Given the description of an element on the screen output the (x, y) to click on. 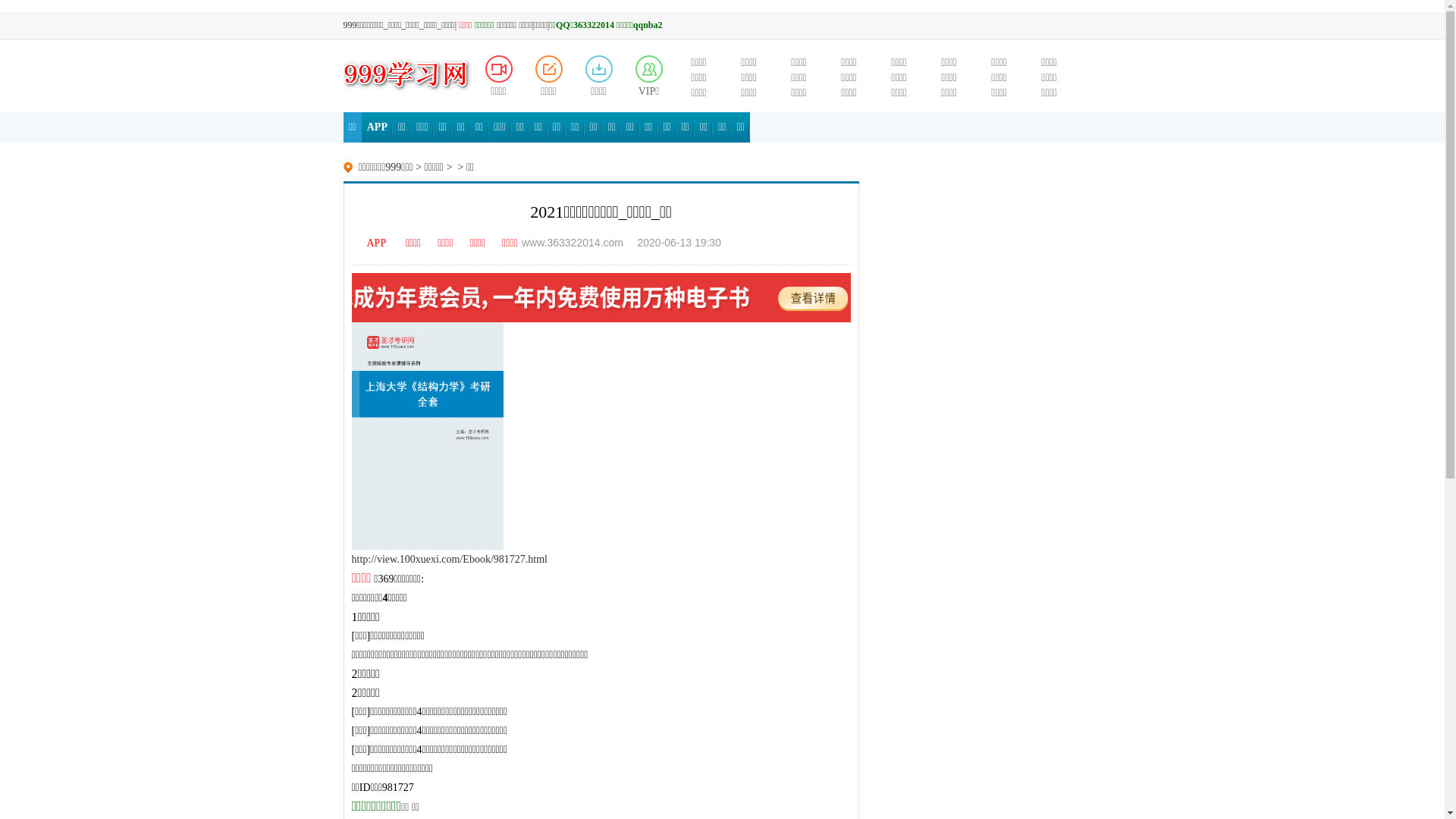
APP Element type: text (376, 127)
APP Element type: text (369, 242)
http://view.100xuexi.com/Ebook/981727.html Element type: text (449, 558)
